Given the description of an element on the screen output the (x, y) to click on. 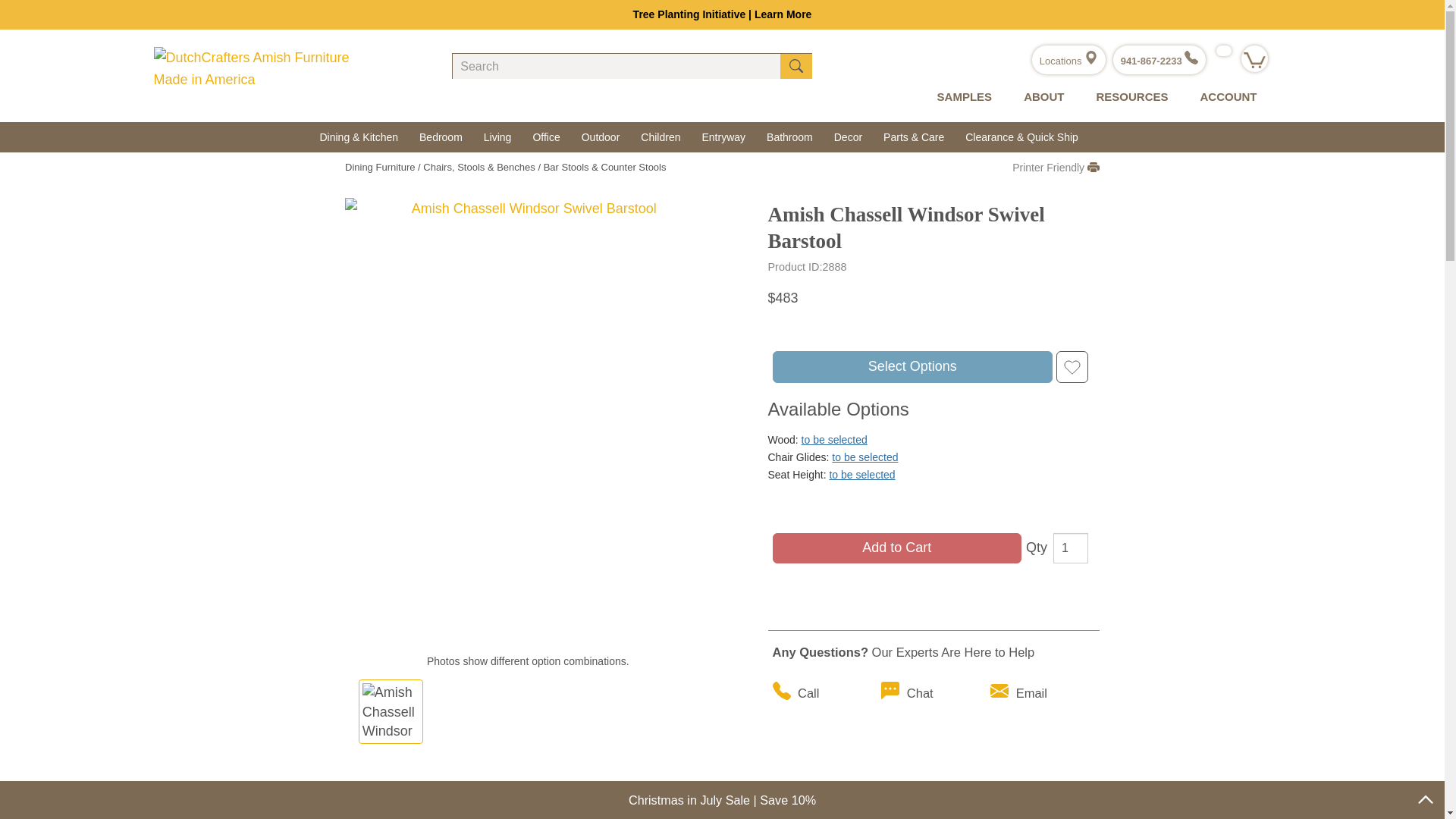
ACCOUNT (1224, 96)
ABOUT (1039, 96)
SAMPLES (961, 96)
941-867-2233 (1159, 60)
Locations (1068, 60)
RESOURCES (1128, 96)
1 (1069, 548)
